Given the description of an element on the screen output the (x, y) to click on. 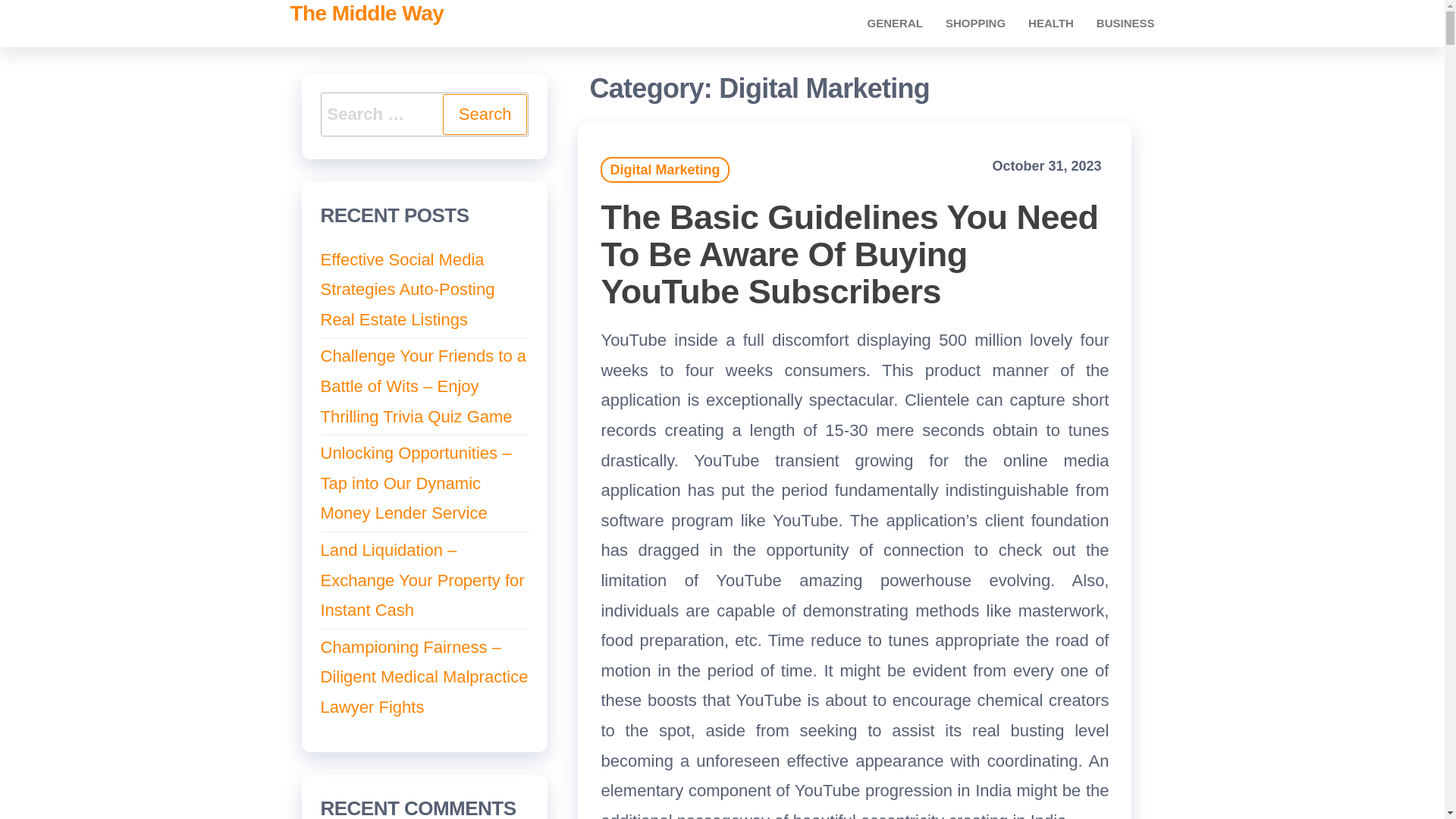
The Middle Way (366, 13)
General (895, 22)
Business (1125, 22)
SHOPPING (975, 22)
Digital Marketing (664, 169)
Health (1050, 22)
Search (484, 114)
BUSINESS (1125, 22)
GENERAL (895, 22)
HEALTH (1050, 22)
Search (484, 114)
Shopping (975, 22)
